Given the description of an element on the screen output the (x, y) to click on. 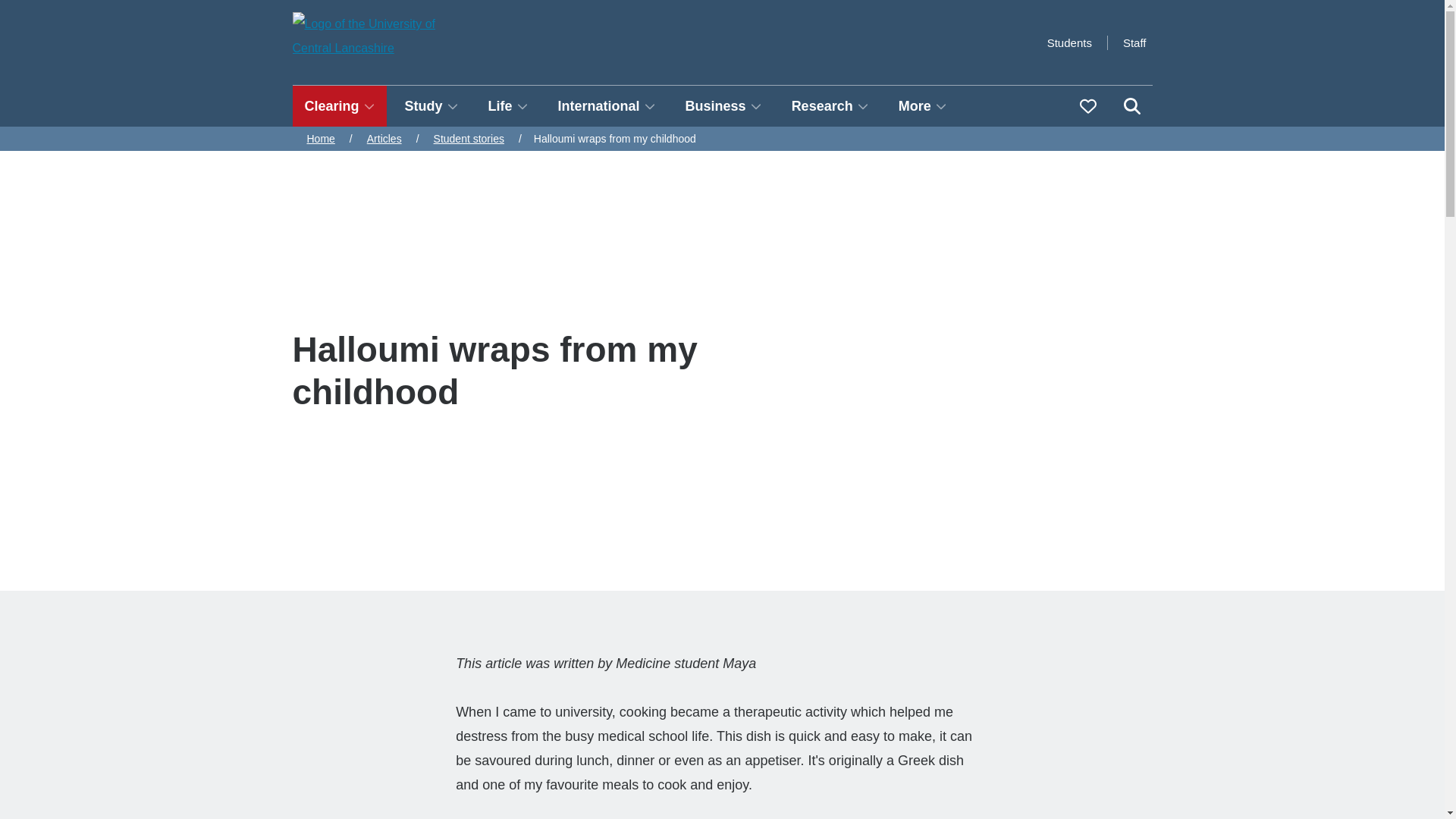
Clearing (339, 105)
Staff (1134, 42)
Students (1069, 42)
Study (431, 105)
Life (508, 105)
